Given the description of an element on the screen output the (x, y) to click on. 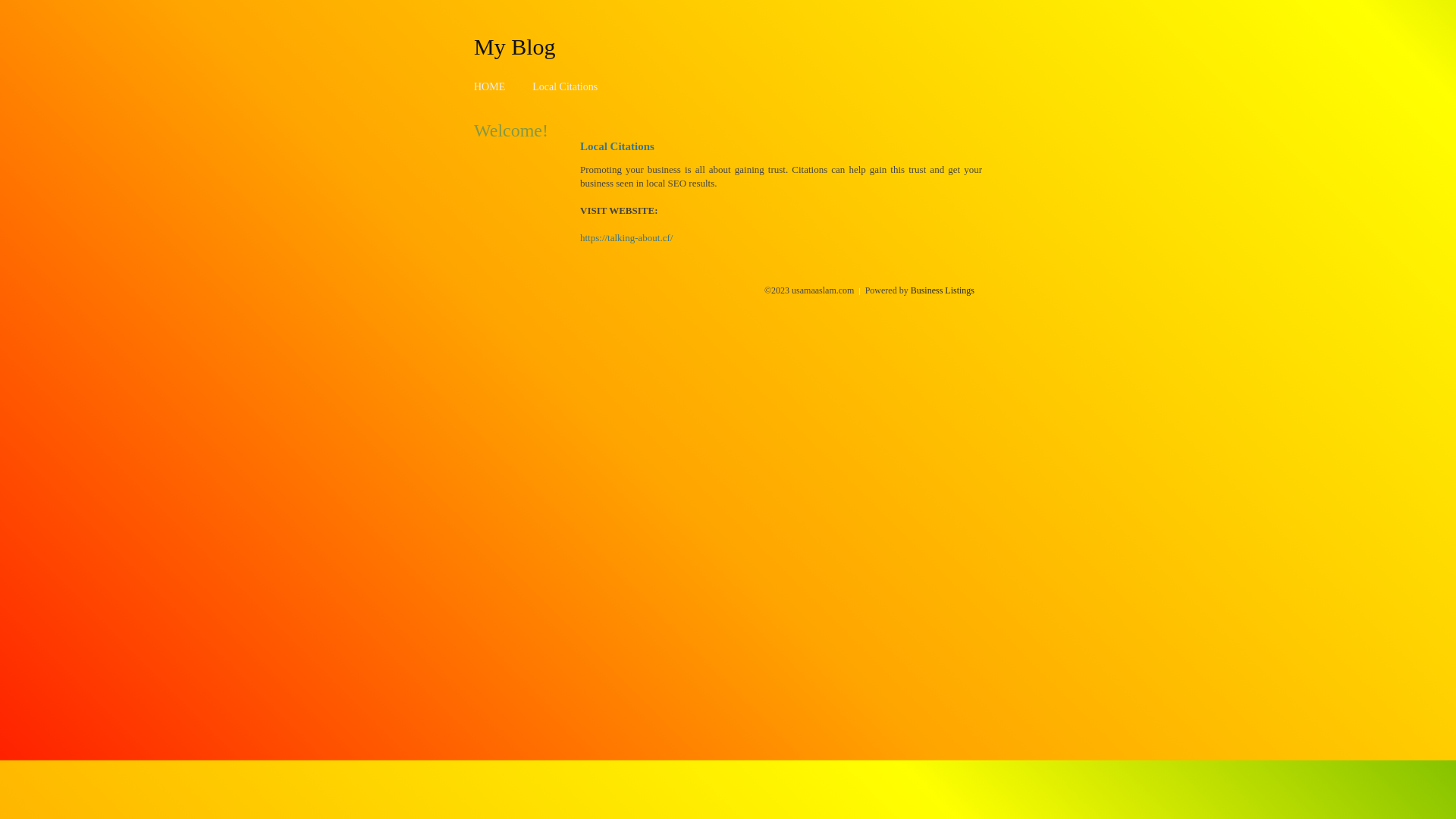
My Blog Element type: text (514, 46)
Local Citations Element type: text (564, 86)
https://talking-about.cf/ Element type: text (626, 237)
Business Listings Element type: text (942, 290)
HOME Element type: text (489, 86)
